Given the description of an element on the screen output the (x, y) to click on. 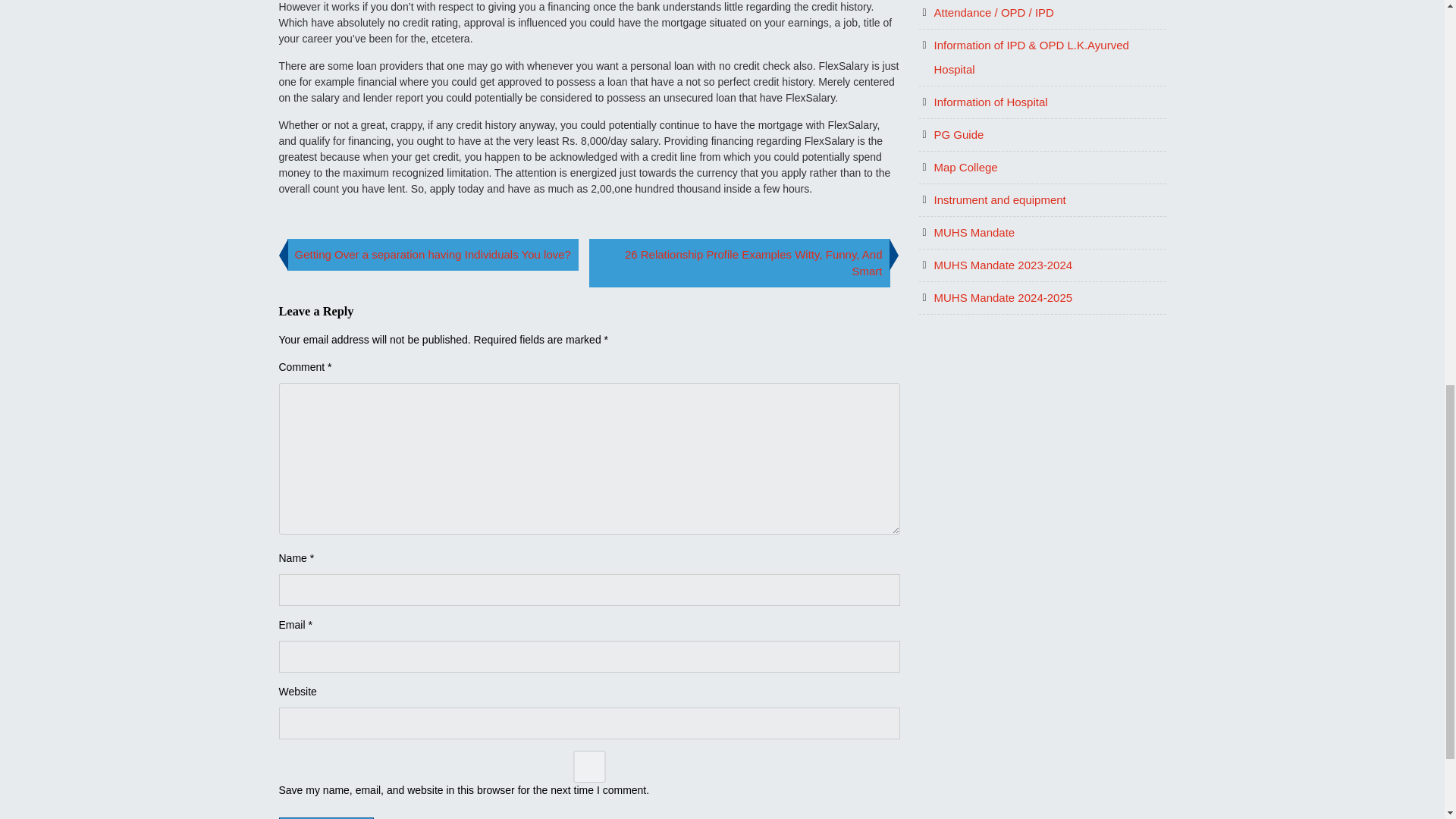
Post Comment (326, 818)
yes (589, 766)
